Given the description of an element on the screen output the (x, y) to click on. 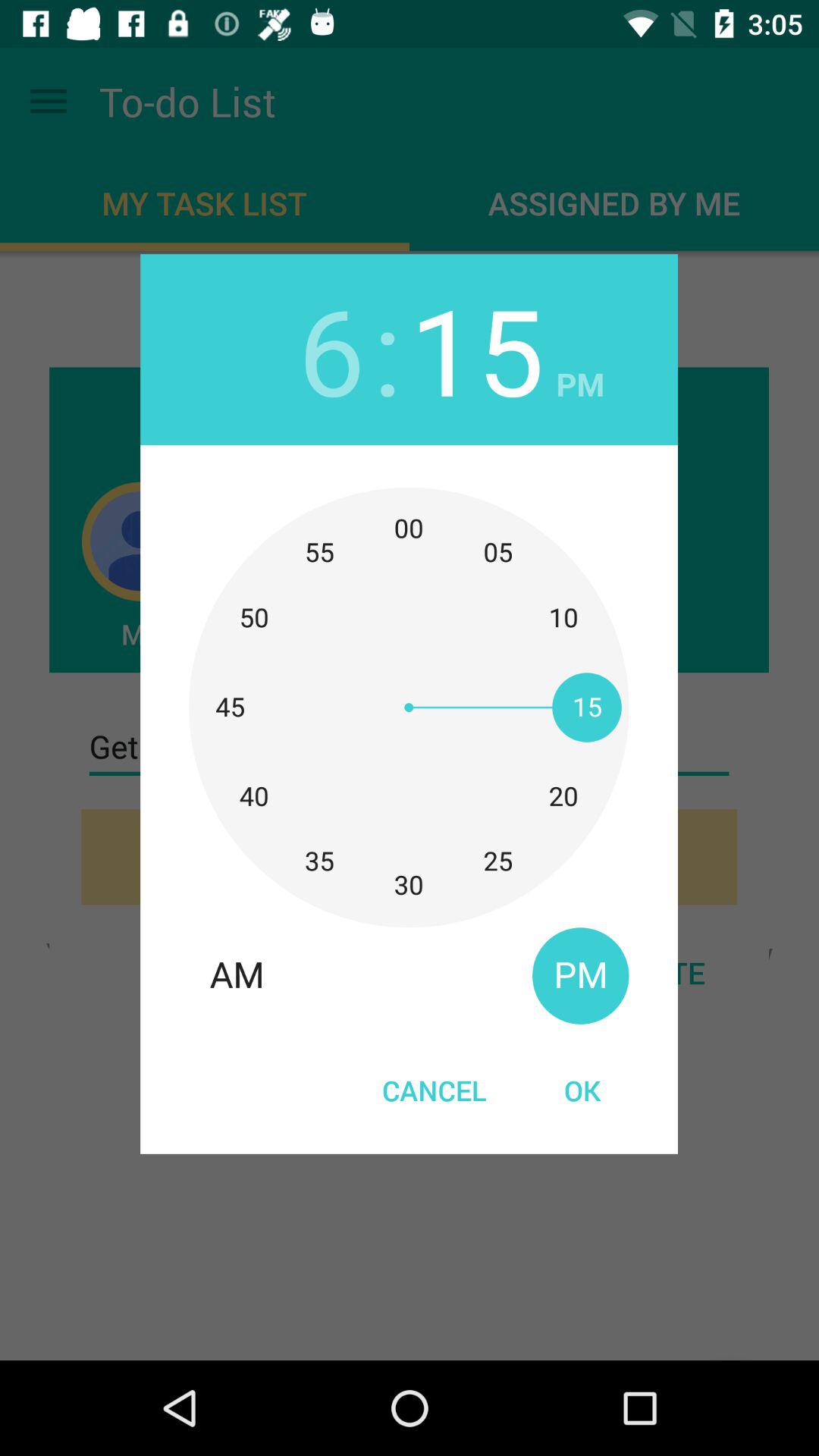
press cancel icon (434, 1090)
